Given the description of an element on the screen output the (x, y) to click on. 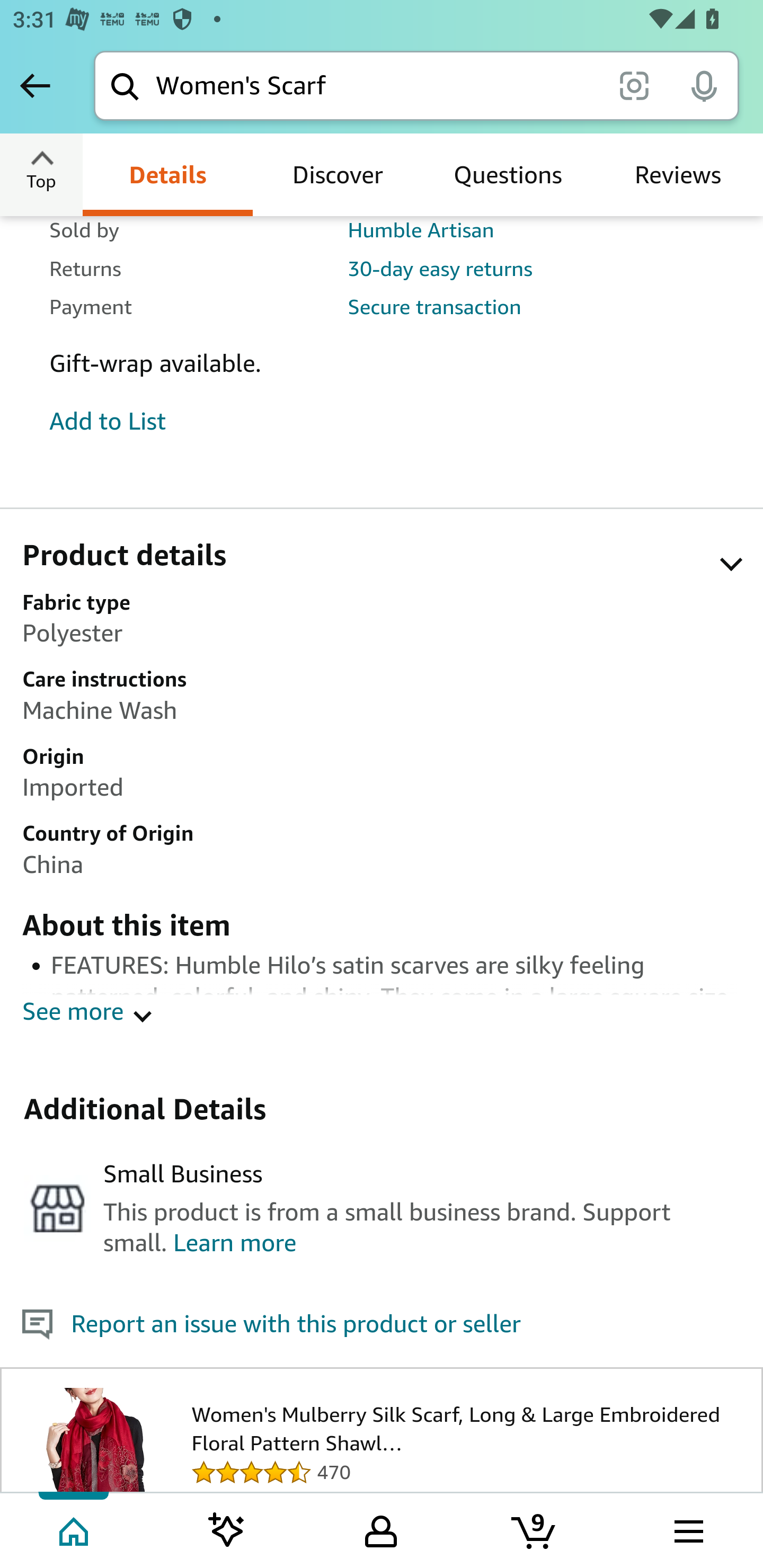
Back (35, 85)
scan it (633, 85)
Humble Artisan (420, 229)
Add to List (108, 421)
Product details About this item (392, 561)
See more (72, 1011)
Learn more (234, 1244)
Home Tab 1 of 5 (75, 1529)
Inspire feed Tab 2 of 5 (227, 1529)
Your Amazon.com Tab 3 of 5 (380, 1529)
Cart 9 items Tab 4 of 5 9 (534, 1529)
Browse menu Tab 5 of 5 (687, 1529)
